Given the description of an element on the screen output the (x, y) to click on. 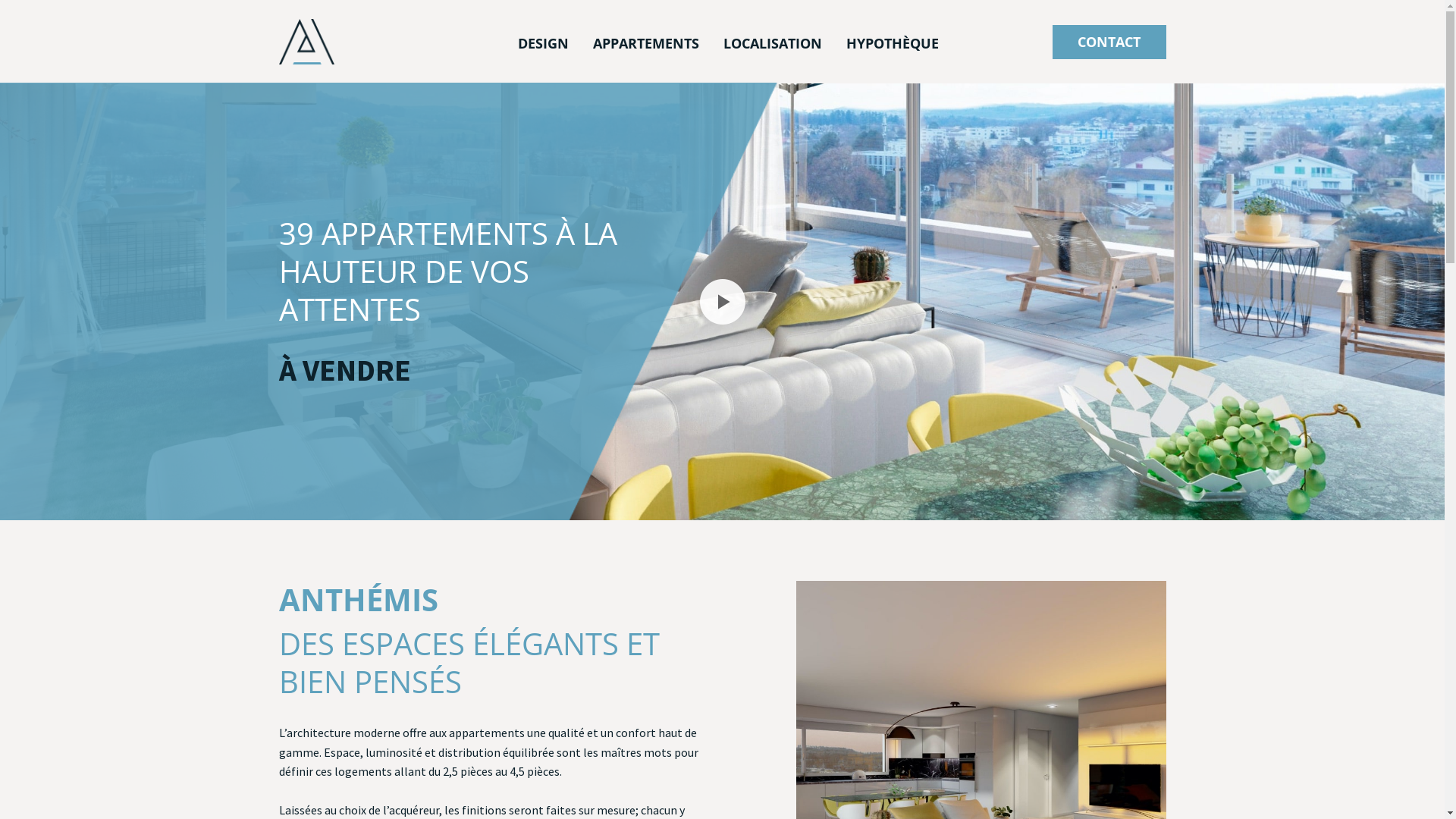
Aller au contenu principal Element type: text (0, 0)
DESIGN Element type: text (542, 42)
APPARTEMENTS Element type: text (645, 42)
CONTACT Element type: text (1109, 41)
LOCALISATION Element type: text (772, 42)
